Given the description of an element on the screen output the (x, y) to click on. 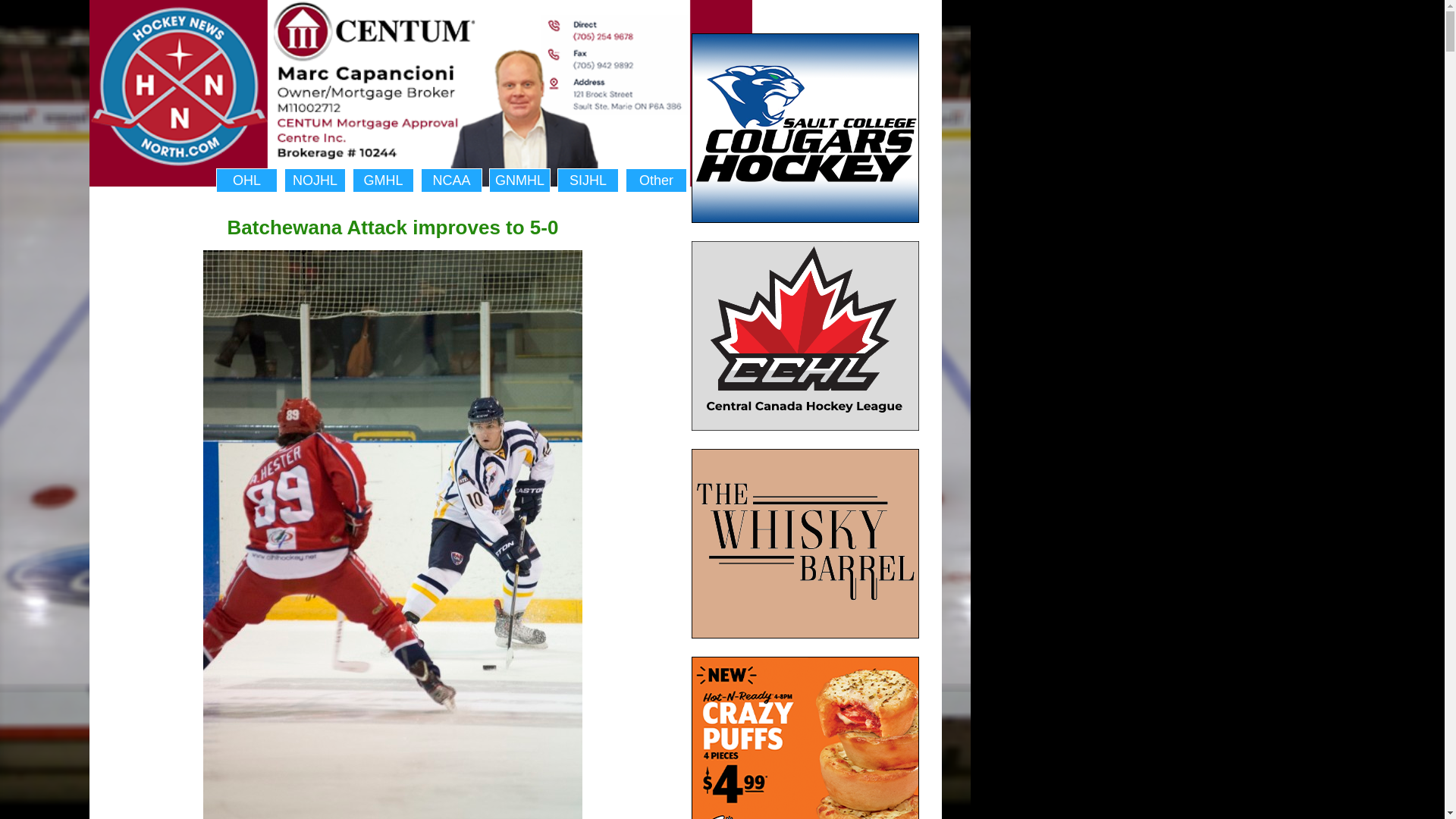
OHL (246, 180)
GMHL (382, 180)
GNMHL (519, 180)
Other (656, 180)
SIJHL (587, 180)
NCAA (450, 180)
NOJHL (314, 180)
